Given the description of an element on the screen output the (x, y) to click on. 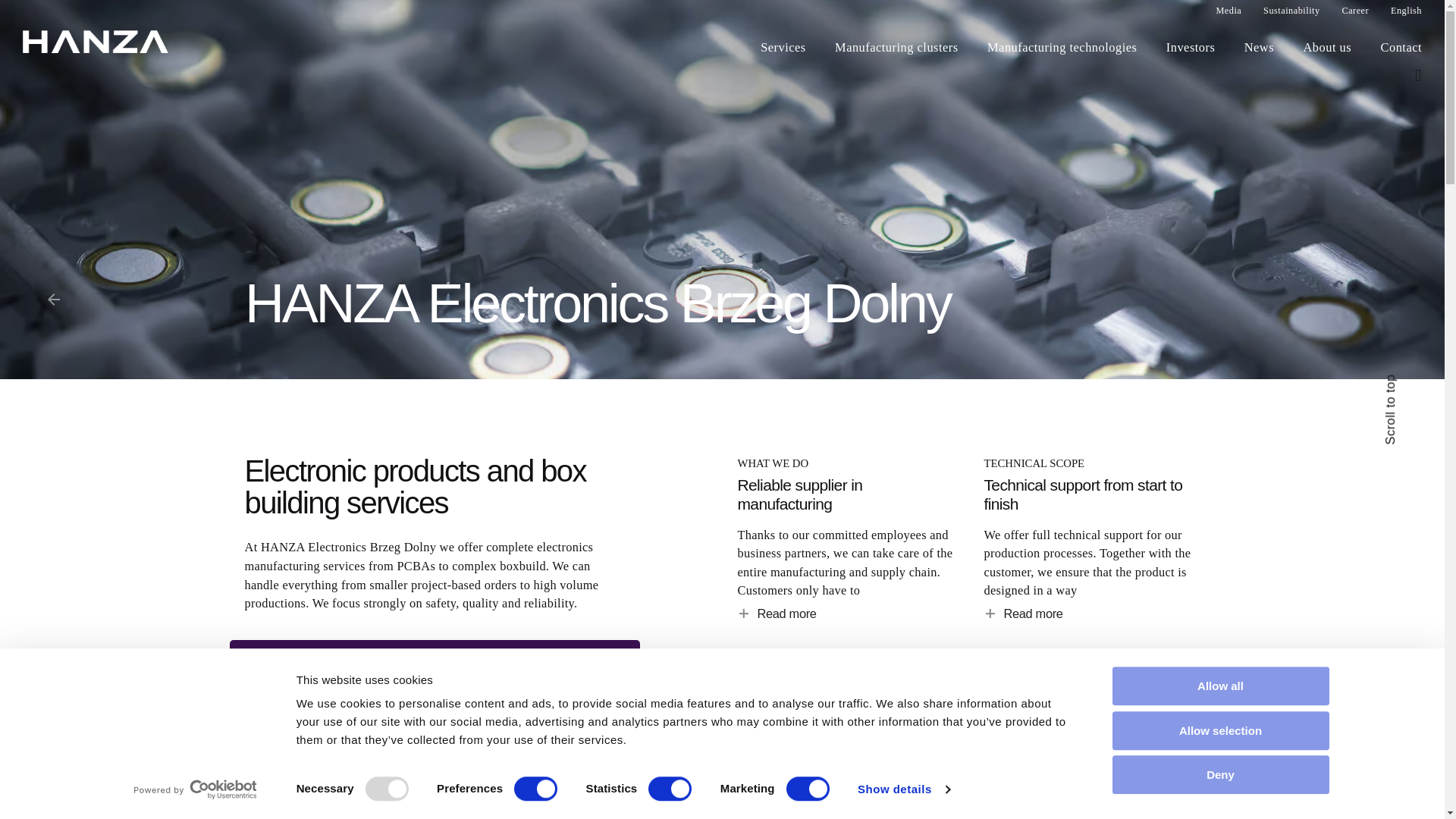
Allow selection (1219, 730)
English (1395, 15)
Deny (1219, 774)
Show details (903, 789)
Allow all (1219, 685)
